Given the description of an element on the screen output the (x, y) to click on. 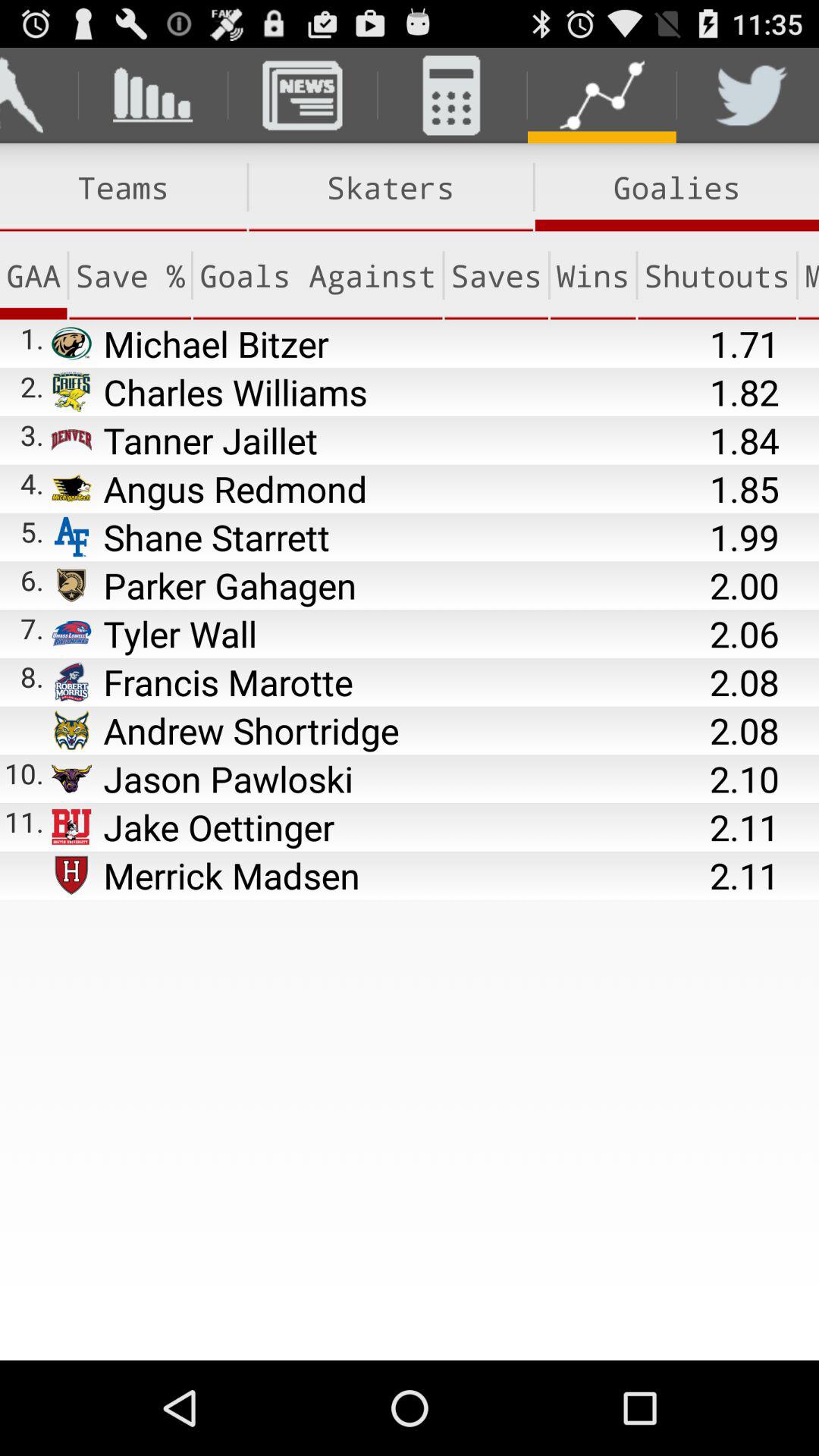
turn on icon to the left of the skaters icon (123, 187)
